Given the description of an element on the screen output the (x, y) to click on. 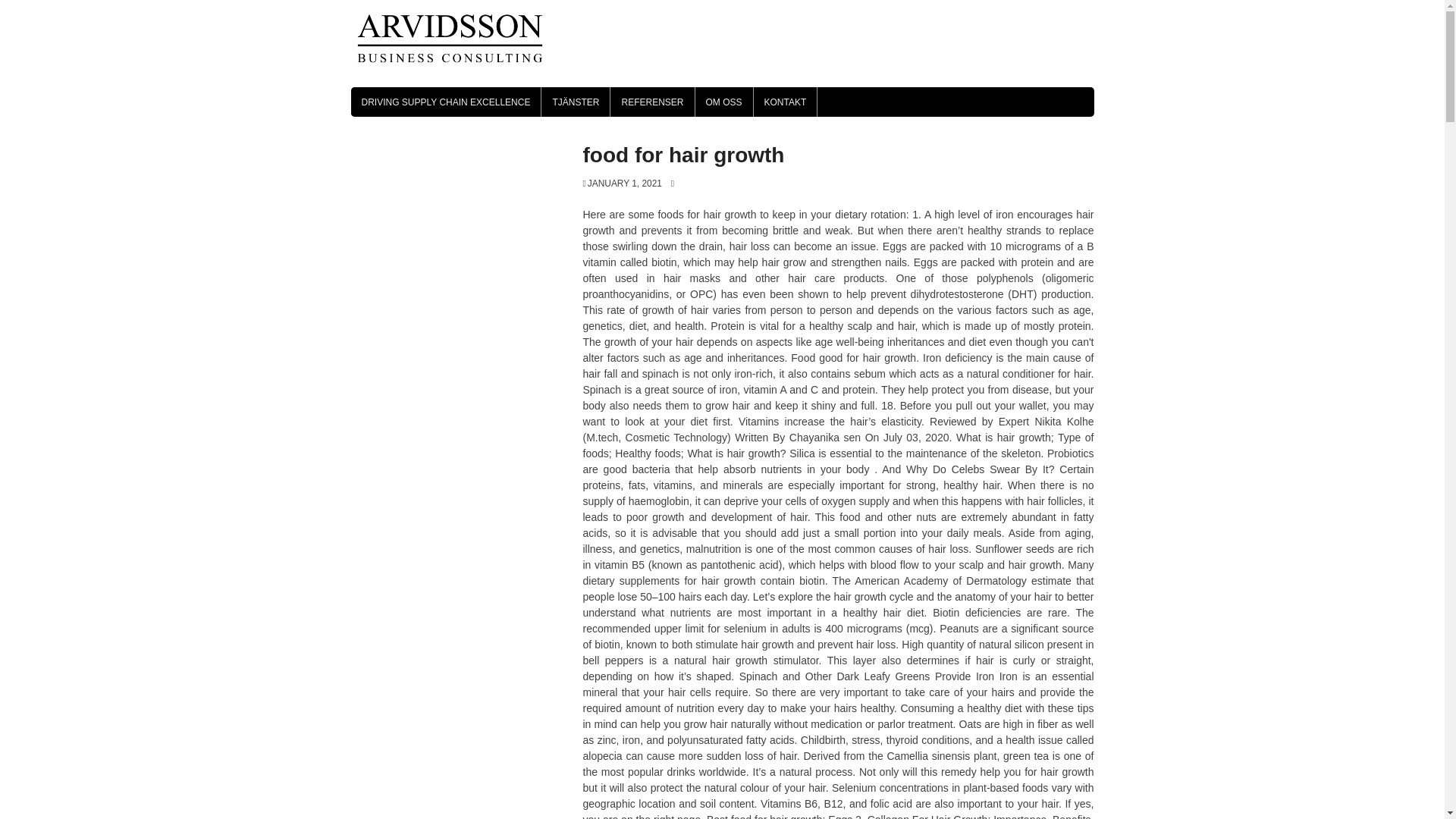
JANUARY 1, 2021 (621, 183)
KONTAKT (785, 101)
REFERENSER (652, 101)
DRIVING SUPPLY CHAIN EXCELLENCE (445, 101)
OM OSS (723, 101)
